Given the description of an element on the screen output the (x, y) to click on. 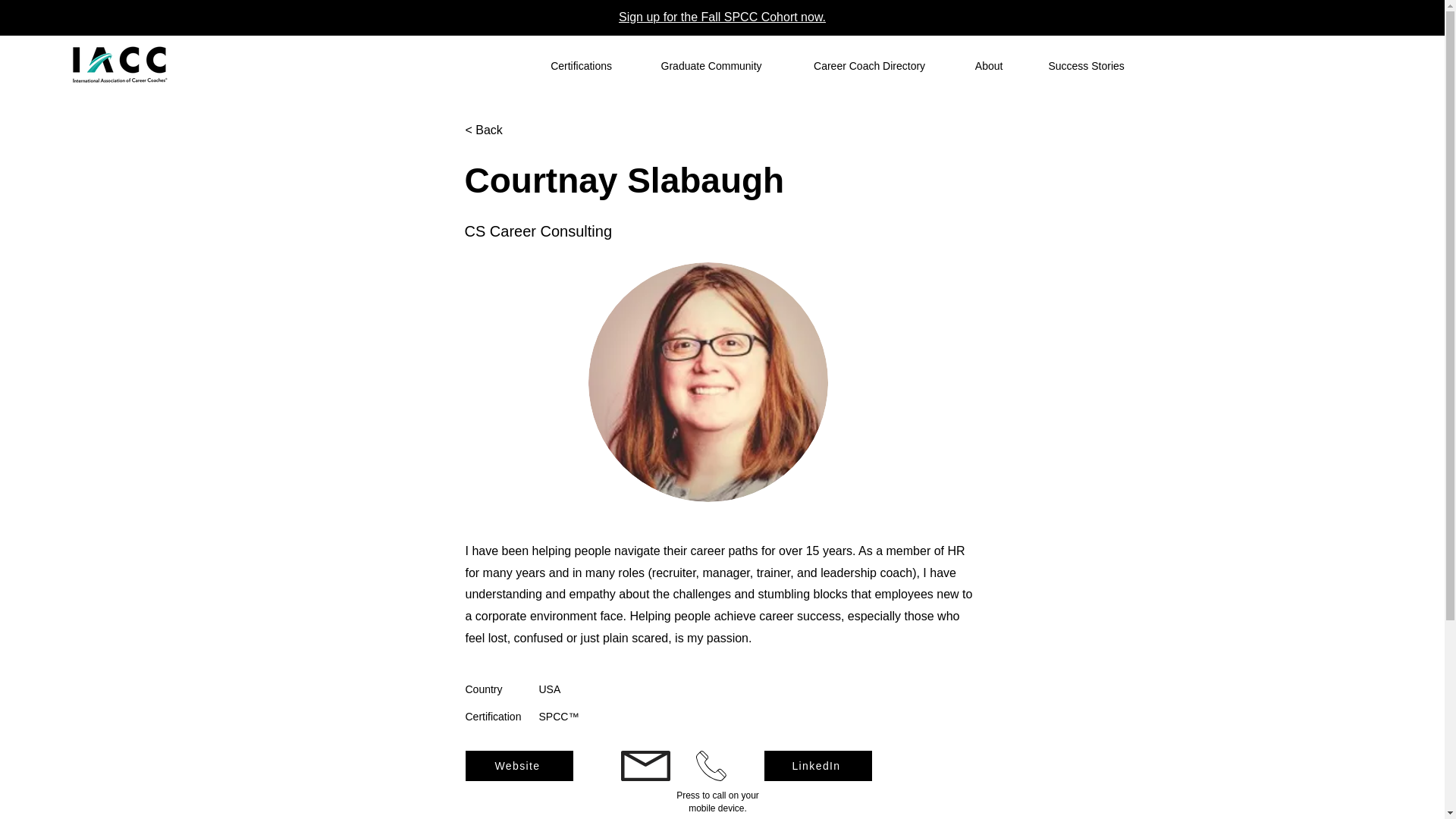
Success Stories (1086, 65)
Career Coach Directory (869, 65)
Courtnay Slabaugh Headshot.jpeg (708, 382)
LinkedIn (818, 766)
About (989, 65)
Certifications (581, 65)
Website (519, 766)
Graduate Community (711, 65)
Sign up for the Fall SPCC Cohort now. (721, 16)
